Given the description of an element on the screen output the (x, y) to click on. 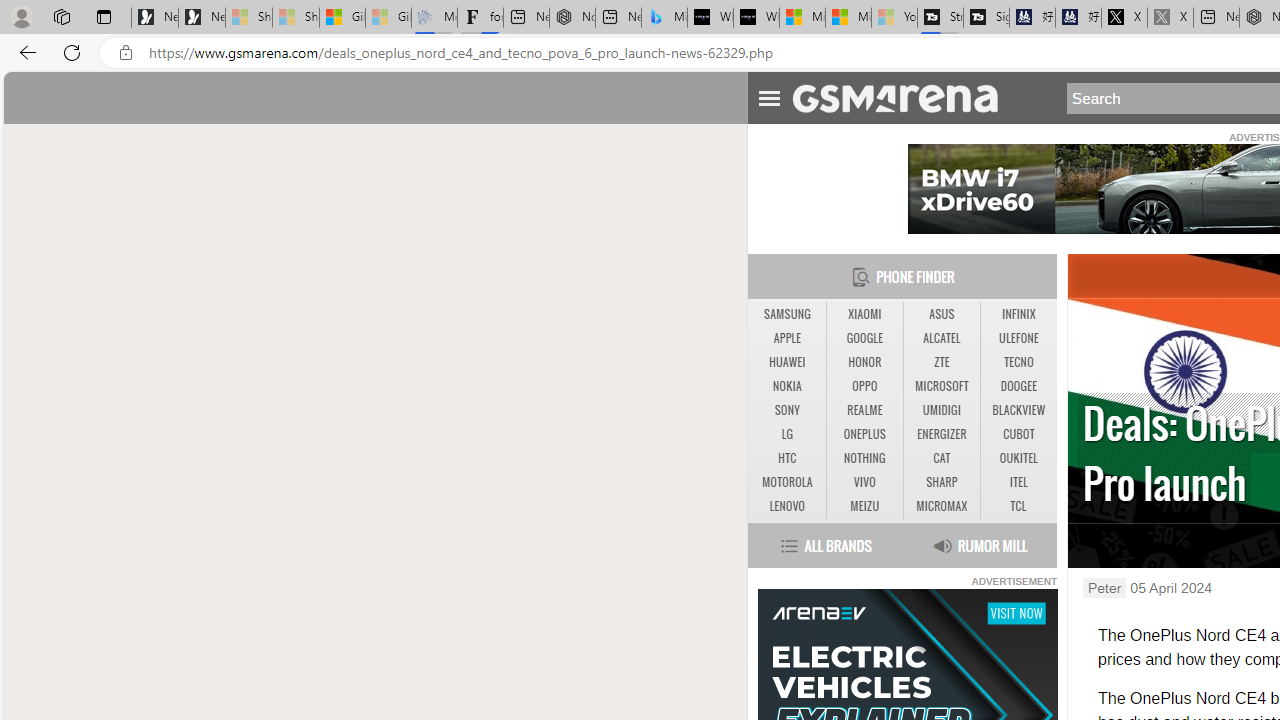
ENERGIZER (941, 434)
UMIDIGI (941, 410)
CUBOT (1018, 434)
REALME (863, 410)
VIVO (863, 482)
TCL (1018, 506)
XIAOMI (863, 313)
BLACKVIEW (1018, 411)
SAMSUNG (786, 314)
GOOGLE (864, 339)
